Given the description of an element on the screen output the (x, y) to click on. 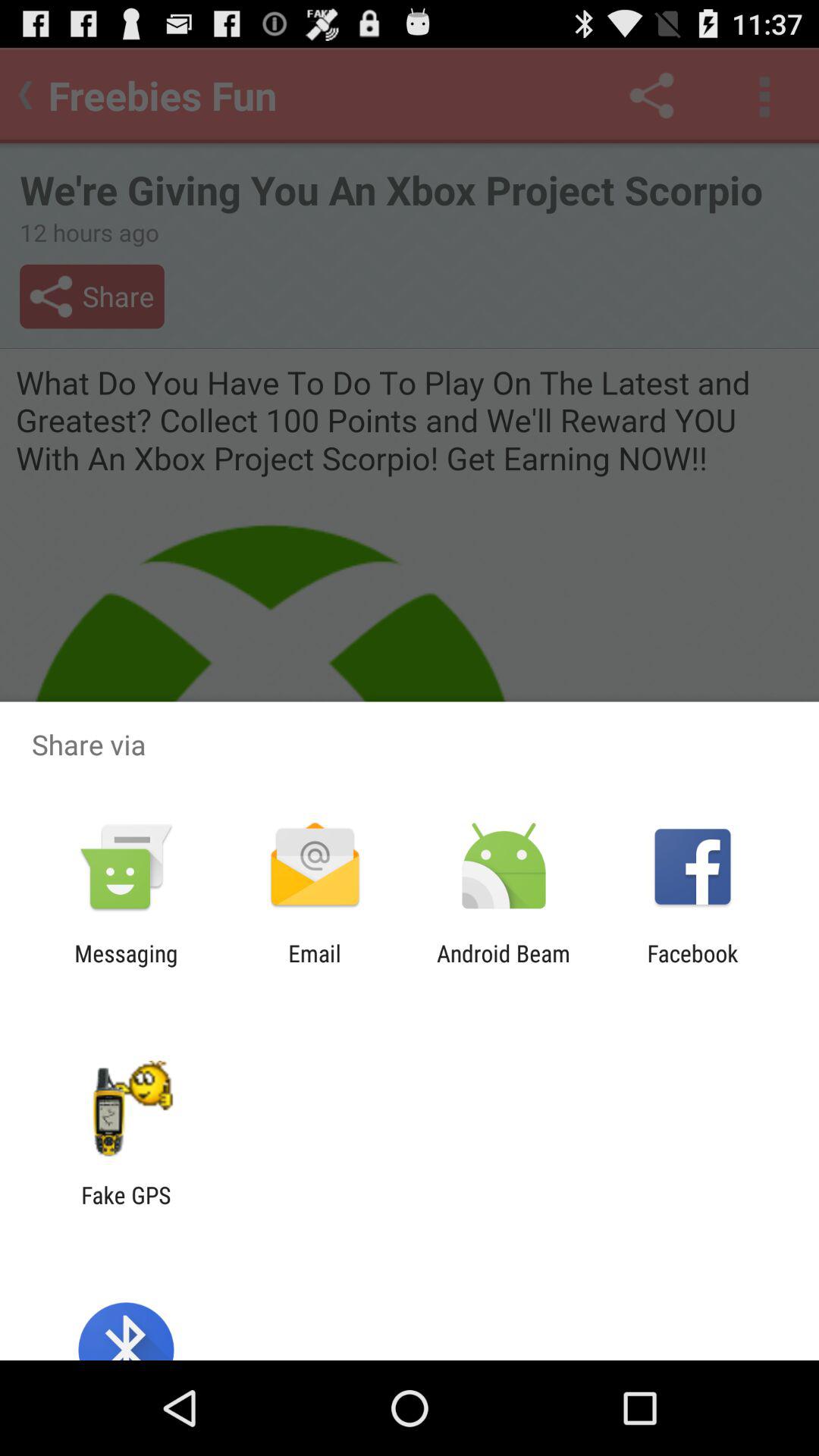
jump to android beam icon (503, 966)
